Given the description of an element on the screen output the (x, y) to click on. 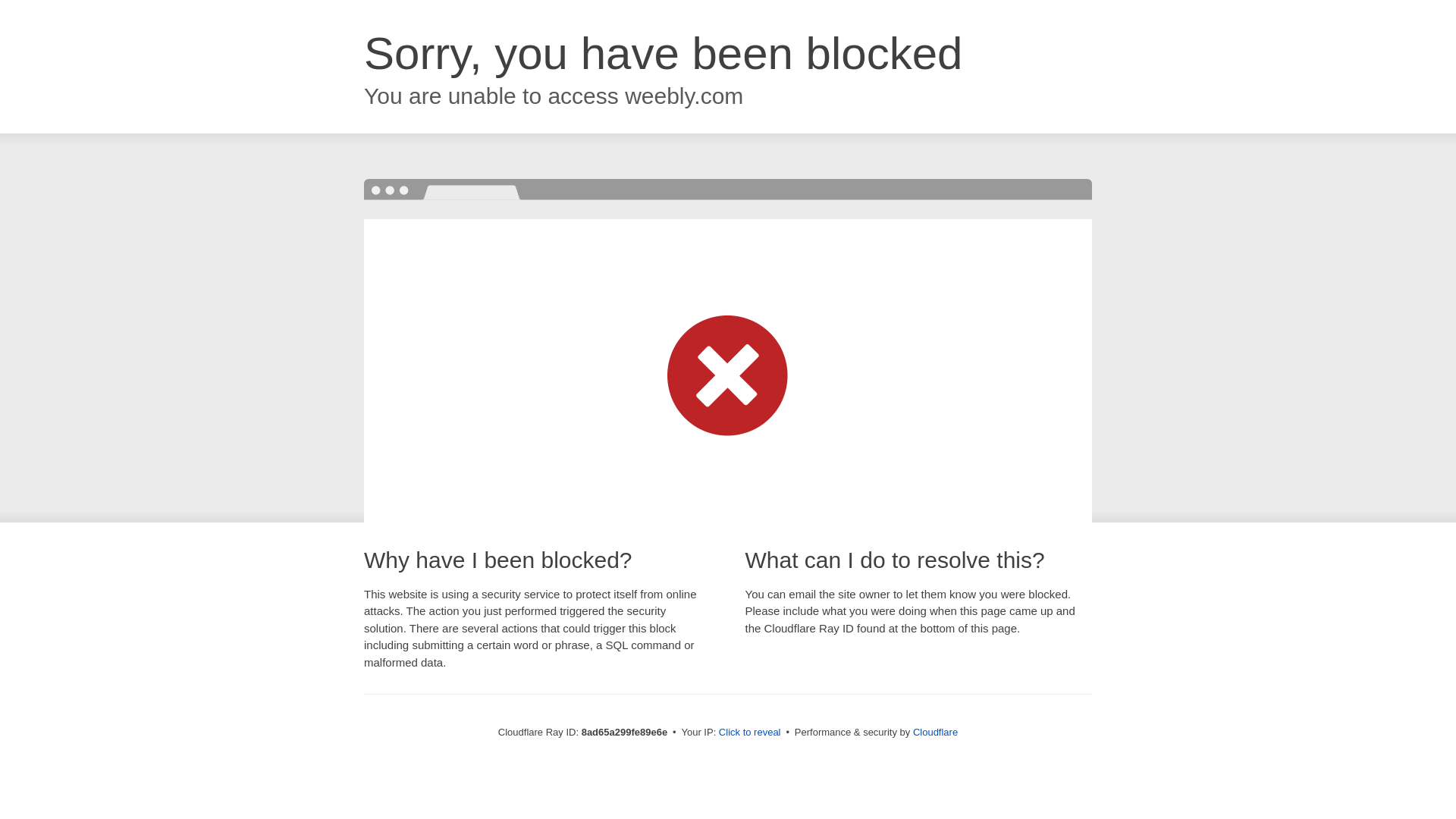
Click to reveal (749, 732)
Cloudflare (935, 731)
